Given the description of an element on the screen output the (x, y) to click on. 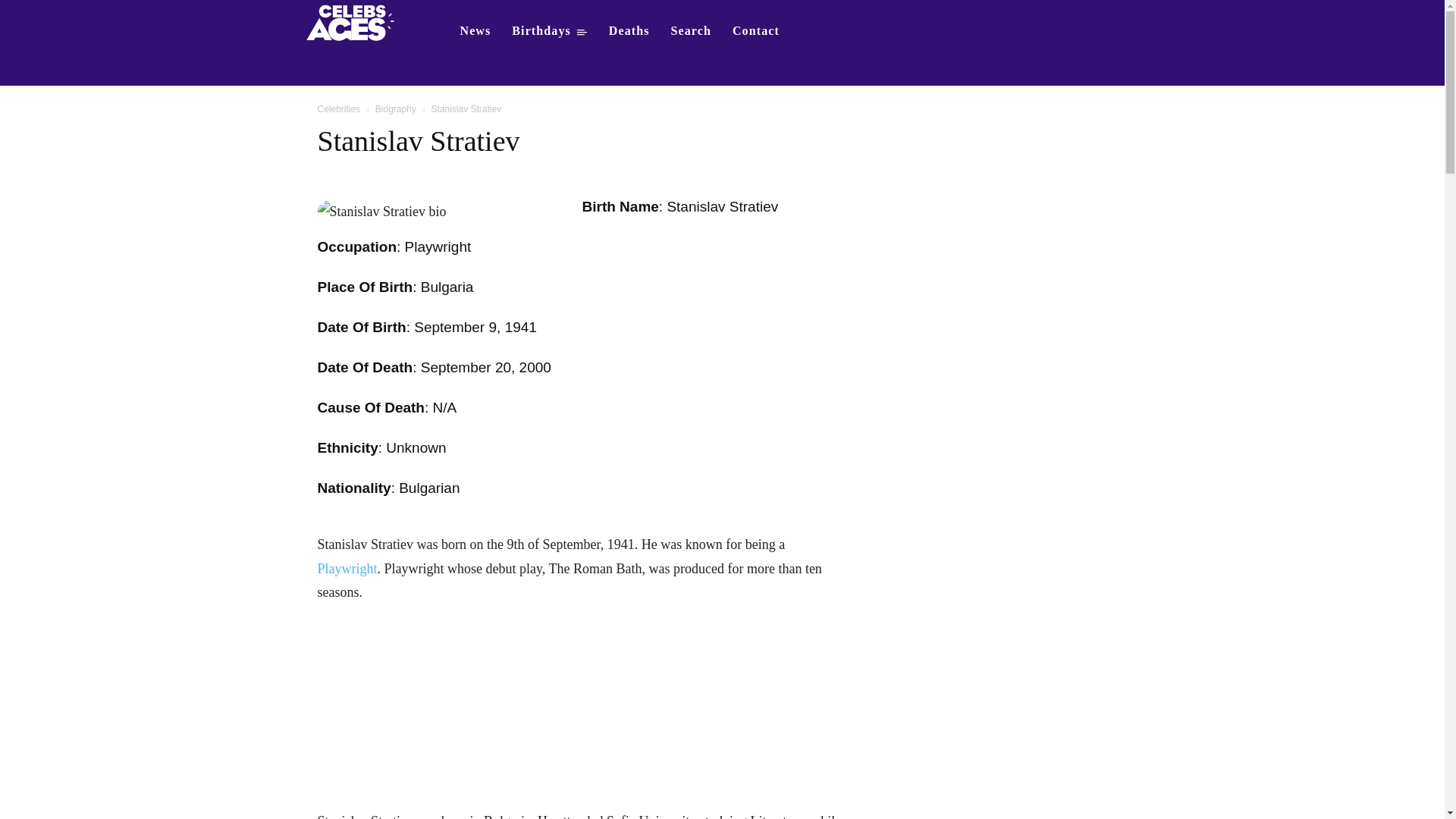
Deaths (629, 31)
Playwright (347, 568)
1941 (521, 326)
September (448, 326)
Who is dating who (354, 21)
Birthdays (548, 31)
Biography (395, 109)
Search (691, 31)
Contact (756, 31)
Celebrities (338, 109)
Celebs News (474, 31)
News (474, 31)
